Given the description of an element on the screen output the (x, y) to click on. 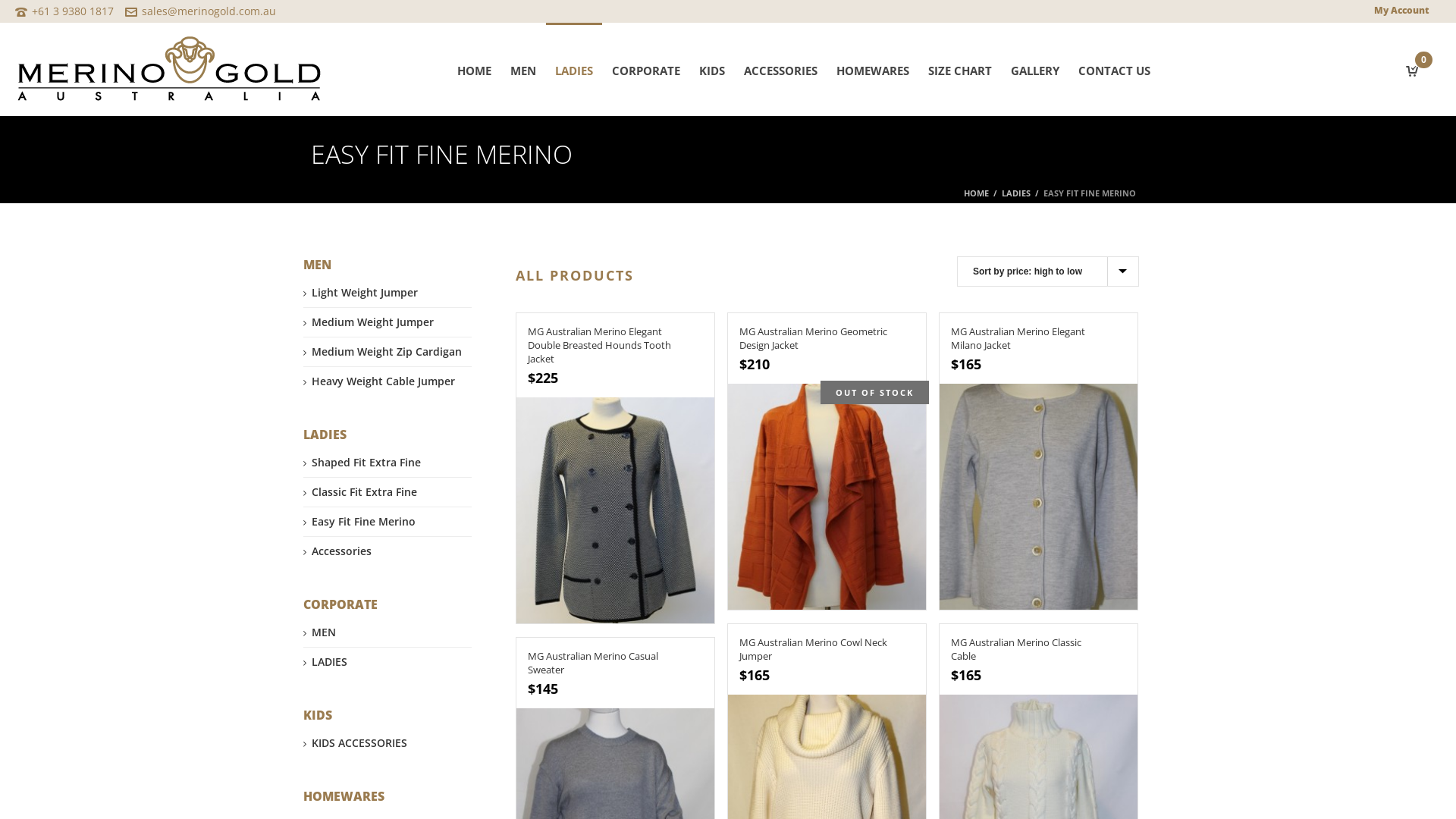
MG Australian Merino Casual Sweater Element type: text (592, 662)
CORPORATE Element type: text (645, 69)
MEN Element type: text (319, 632)
SIZE CHART Element type: text (960, 69)
MG Australian Merino Elegant Milano Jacket Element type: hover (1038, 496)
HOME Element type: text (474, 69)
MG Australian Merino Geometric Design Jacket Element type: hover (826, 496)
KIDS Element type: text (712, 69)
Accessories Element type: text (337, 551)
MG Australian Merino Cowl Neck Jumper Element type: text (813, 648)
Easy Fit Fine Merino Element type: text (359, 521)
HOMEWARES Element type: text (872, 69)
MG Australian Merino Classic Cable Element type: text (1015, 648)
Heavy Weight Cable Jumper Element type: text (379, 381)
Medium Weight Jumper Element type: text (368, 322)
MEN Element type: text (523, 69)
LADIES Element type: text (1015, 192)
MG Australian Merino Elegant Milano Jacket Element type: text (1017, 337)
sales@merinogold.com.au Element type: text (208, 10)
Medium Weight Zip Cardigan Element type: text (382, 351)
Light Weight Jumper Element type: text (360, 292)
ACCESSORIES Element type: text (780, 69)
Shaped Fit Extra Fine Element type: text (361, 462)
MG Australian Merino Geometric Design Jacket Element type: text (813, 337)
LADIES Element type: text (325, 661)
KIDS ACCESSORIES Element type: text (355, 742)
0 Element type: text (1411, 68)
GALLERY Element type: text (1034, 69)
CONTACT US Element type: text (1114, 69)
My Account Element type: text (1401, 10)
HOME Element type: text (975, 192)
Merino Gold Element type: hover (169, 80)
Classic Fit Extra Fine Element type: text (360, 491)
LADIES Element type: text (574, 69)
